Given the description of an element on the screen output the (x, y) to click on. 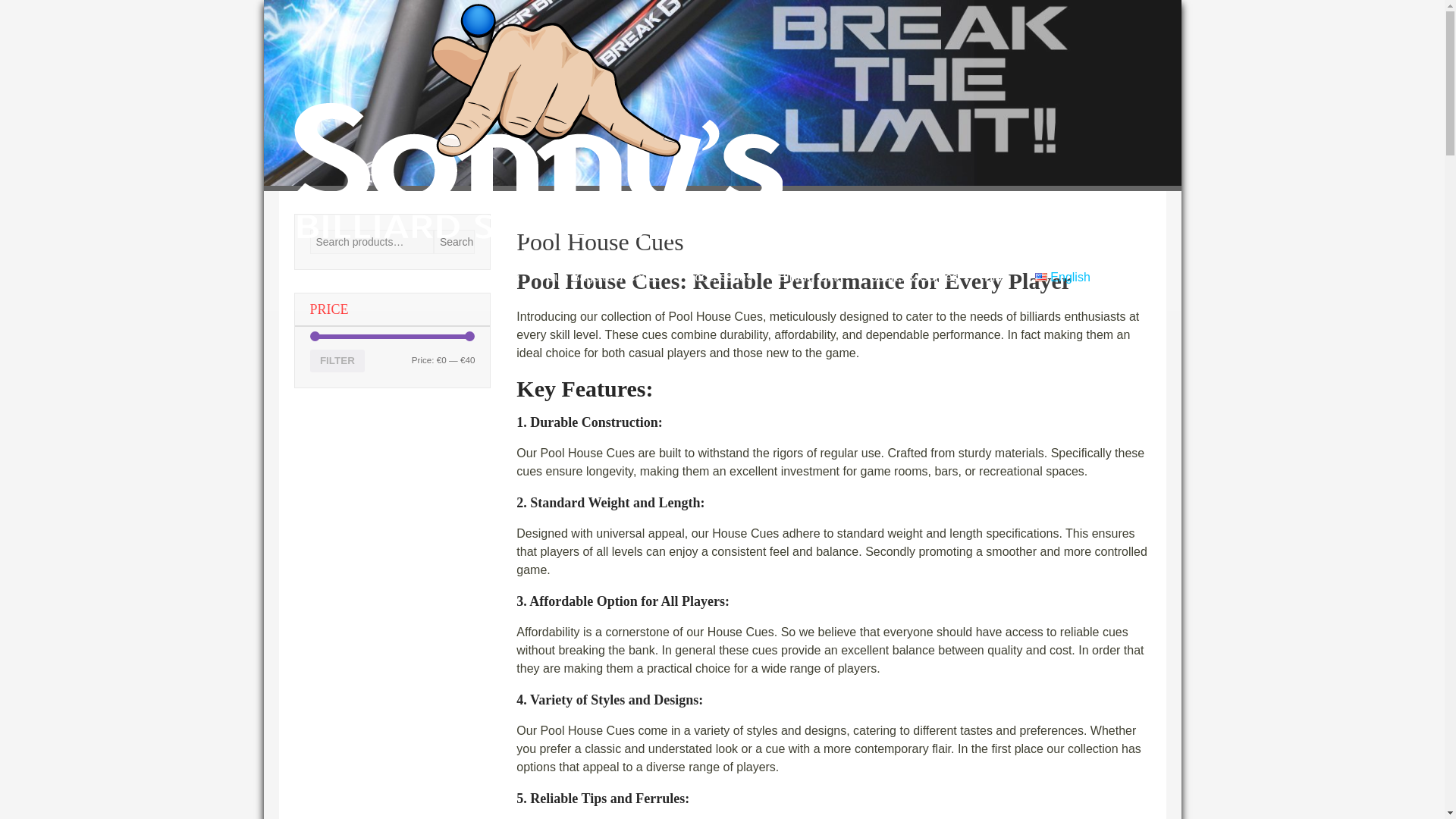
Accessories (718, 33)
Cue Bags and Cases (602, 33)
40 (414, 365)
0 (414, 343)
Top of Page (1401, 786)
Billiard Gifts (810, 33)
